Given the description of an element on the screen output the (x, y) to click on. 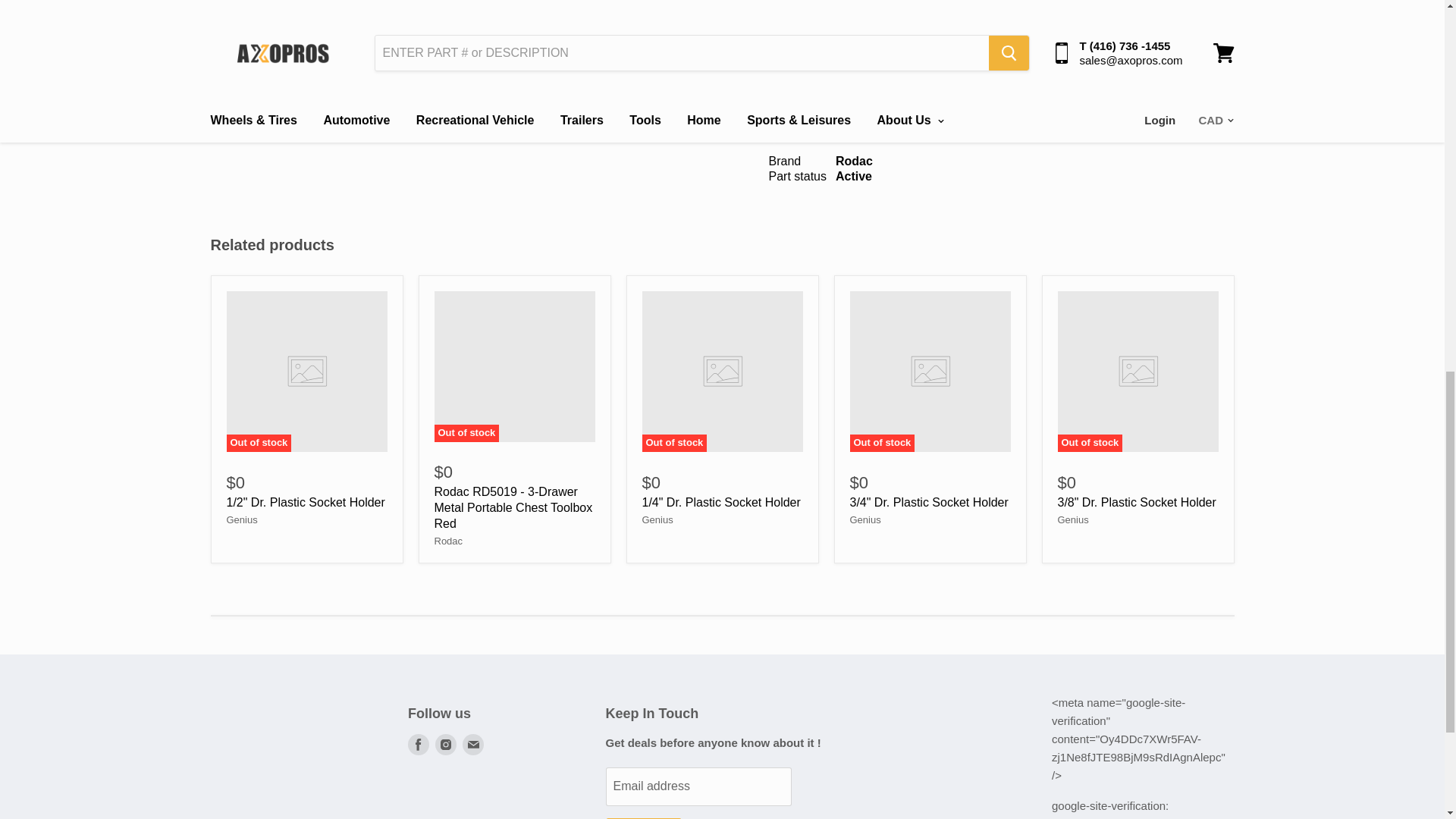
E-mail (473, 744)
Facebook (418, 744)
Instagram (446, 744)
